Given the description of an element on the screen output the (x, y) to click on. 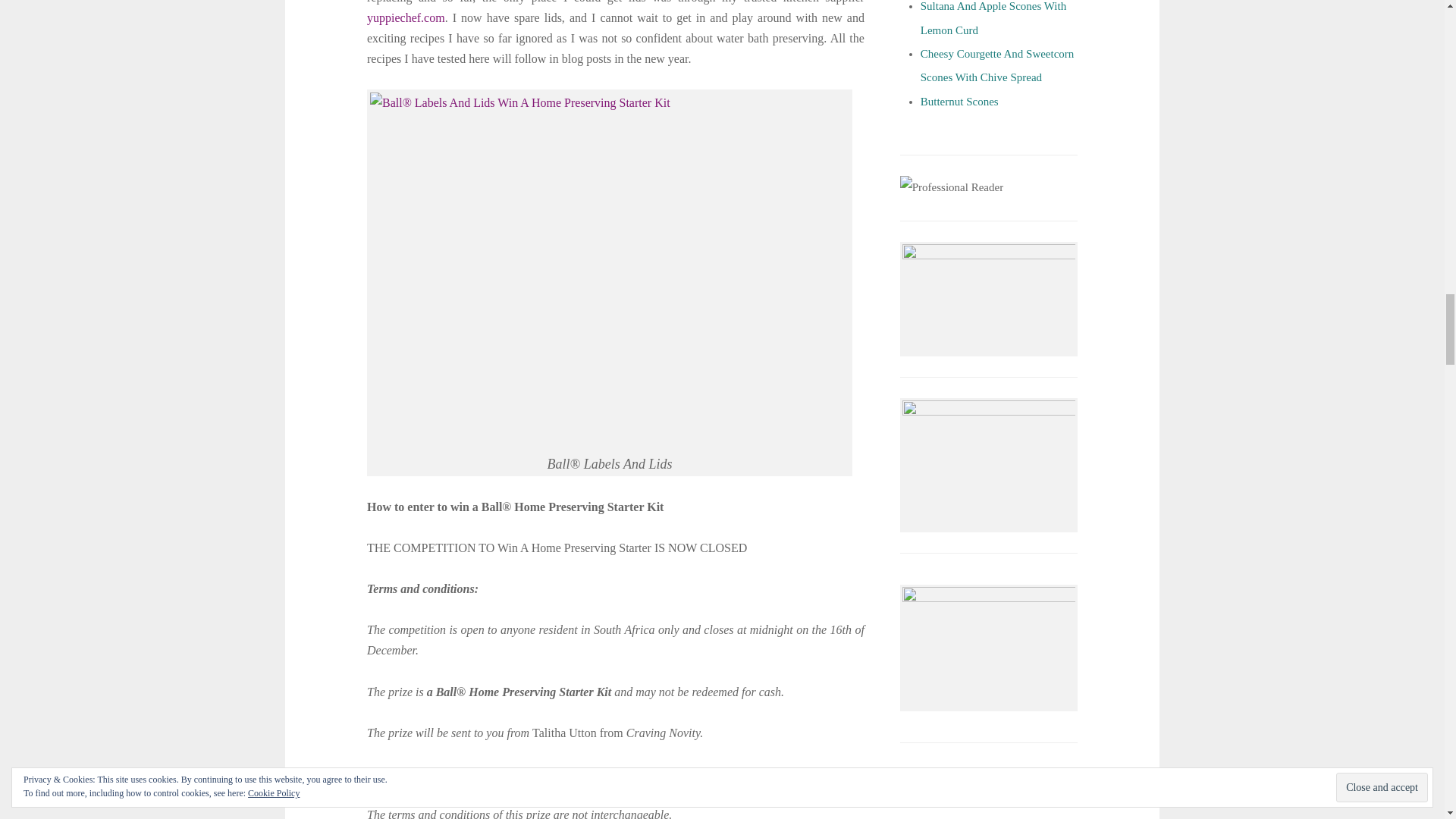
yuppiechef.com (405, 17)
